Given the description of an element on the screen output the (x, y) to click on. 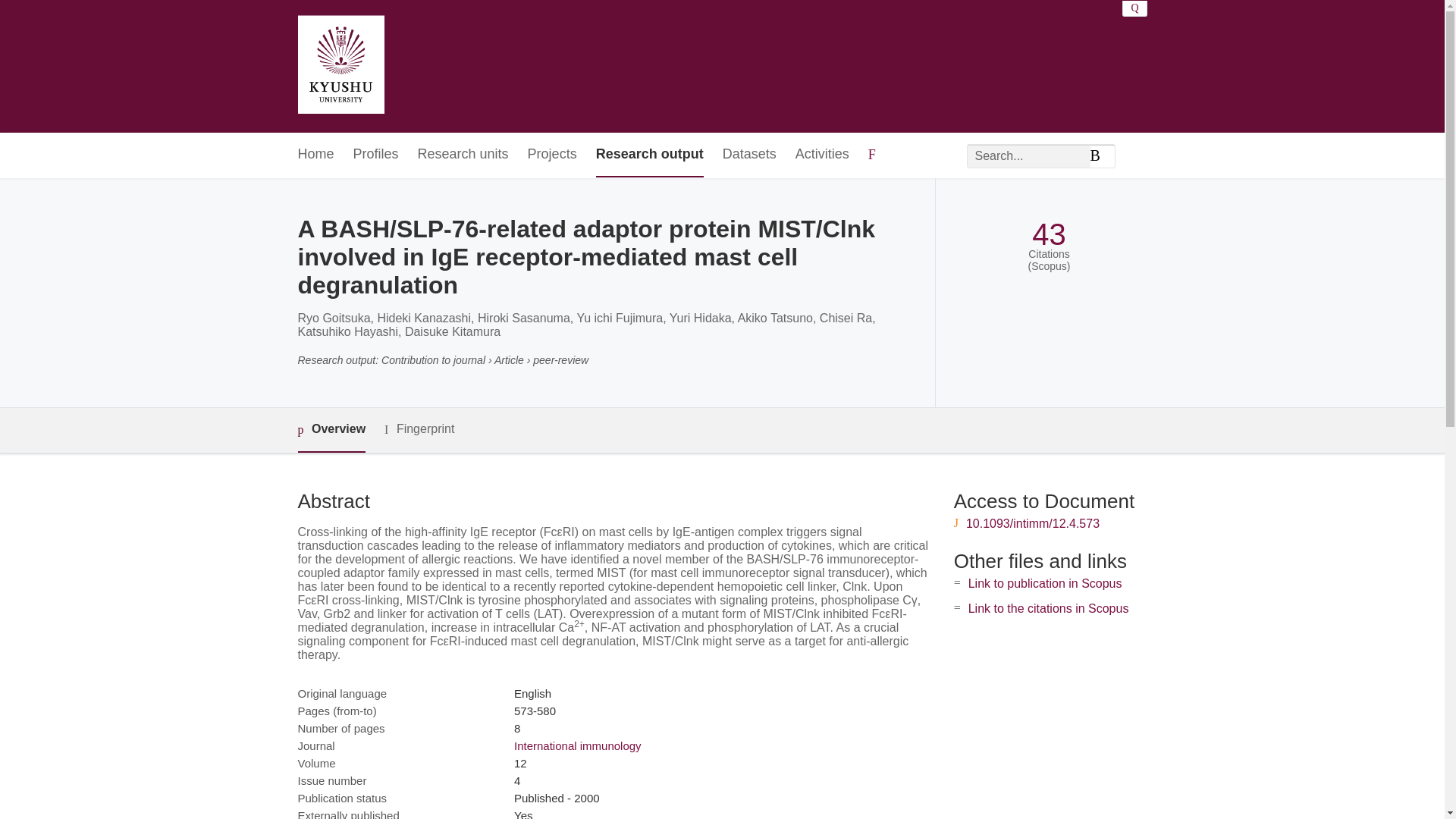
Datasets (749, 154)
Research output (649, 154)
Fingerprint (419, 429)
Projects (551, 154)
43 (1048, 234)
Overview (331, 429)
Link to publication in Scopus (1045, 583)
Activities (821, 154)
Profiles (375, 154)
